Given the description of an element on the screen output the (x, y) to click on. 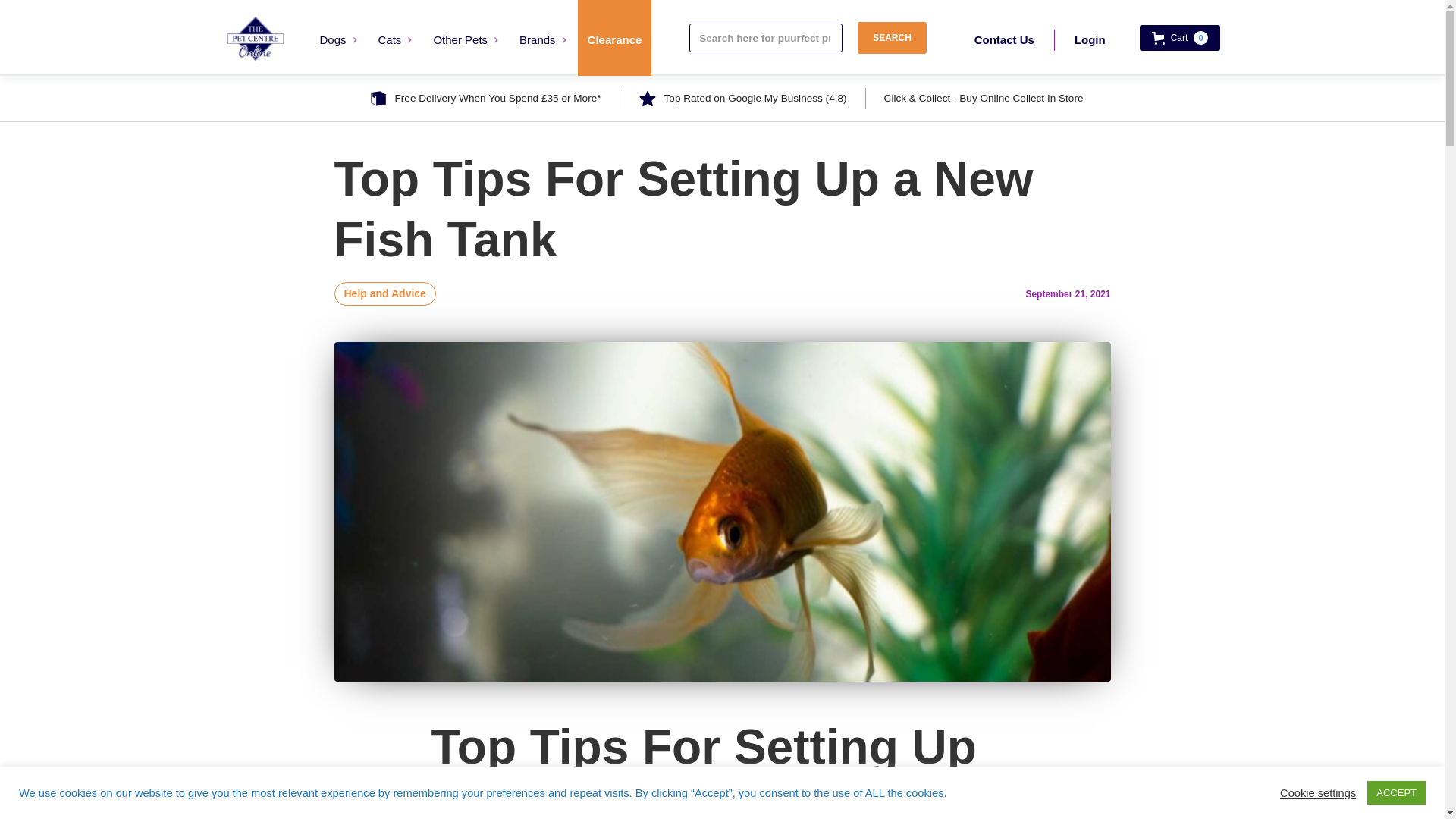
SEARCH (891, 38)
